Given the description of an element on the screen output the (x, y) to click on. 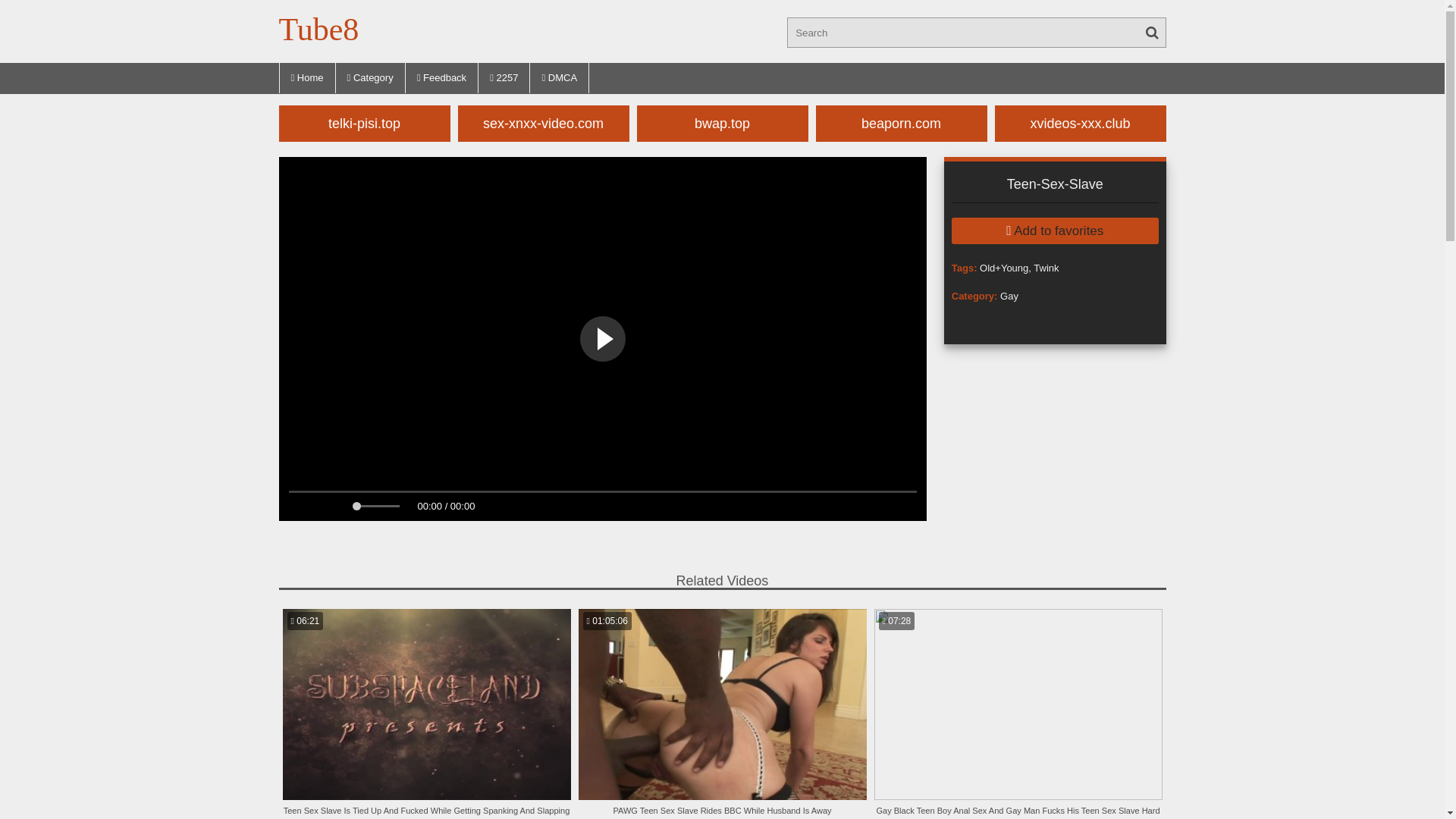
Category Element type: text (370, 77)
Add to favorites Element type: text (1054, 230)
beaporn.com Element type: text (901, 123)
Gay Element type: text (1009, 295)
Tube8 Element type: text (319, 25)
telki-pisi.top Element type: text (364, 123)
2257 Element type: text (504, 77)
DMCA Element type: text (559, 77)
Home Element type: text (307, 77)
bwap.top Element type: text (722, 123)
xvideos-xxx.club Element type: text (1080, 123)
Feedback Element type: text (441, 77)
Old+Young Element type: text (1003, 267)
Twink Element type: text (1045, 267)
sex-xnxx-video.com Element type: text (543, 123)
